Given the description of an element on the screen output the (x, y) to click on. 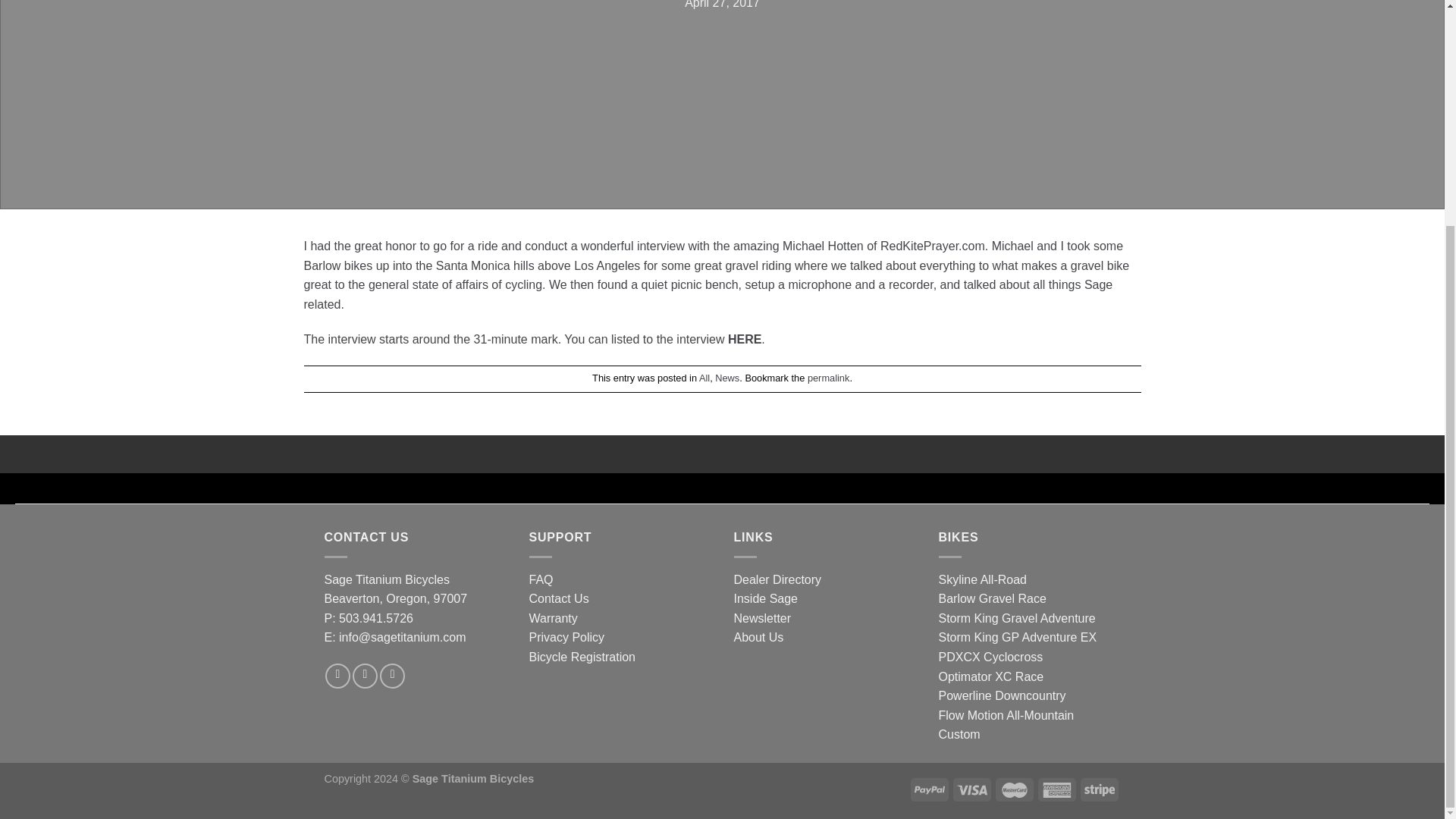
Follow on Facebook (337, 675)
News (726, 378)
Contact Us (559, 598)
HERE (744, 338)
permalink (828, 378)
All (704, 378)
Send us an email (392, 675)
FAQ (541, 579)
Follow on Instagram (364, 675)
